Given the description of an element on the screen output the (x, y) to click on. 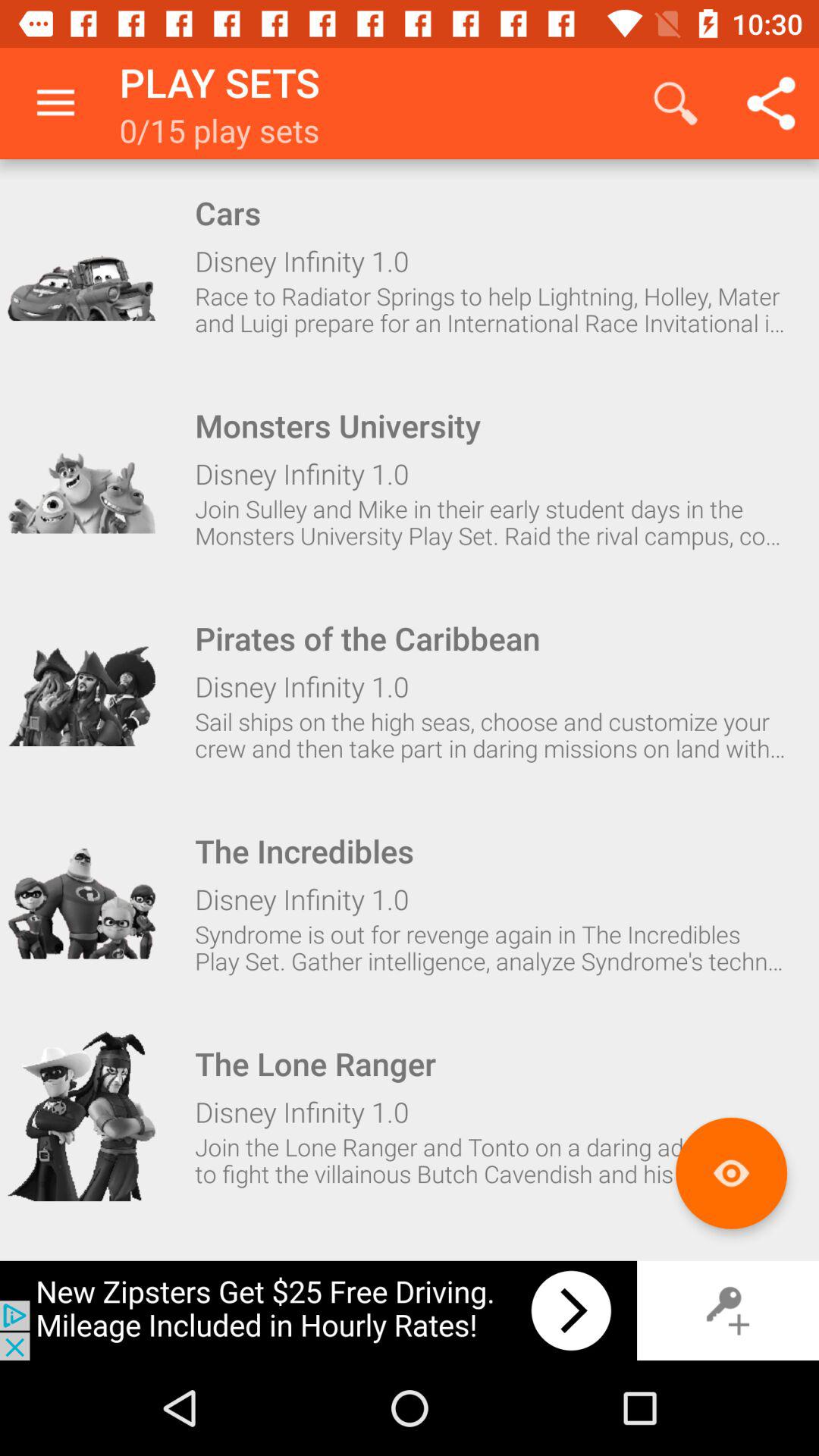
view selected (731, 1173)
